Given the description of an element on the screen output the (x, y) to click on. 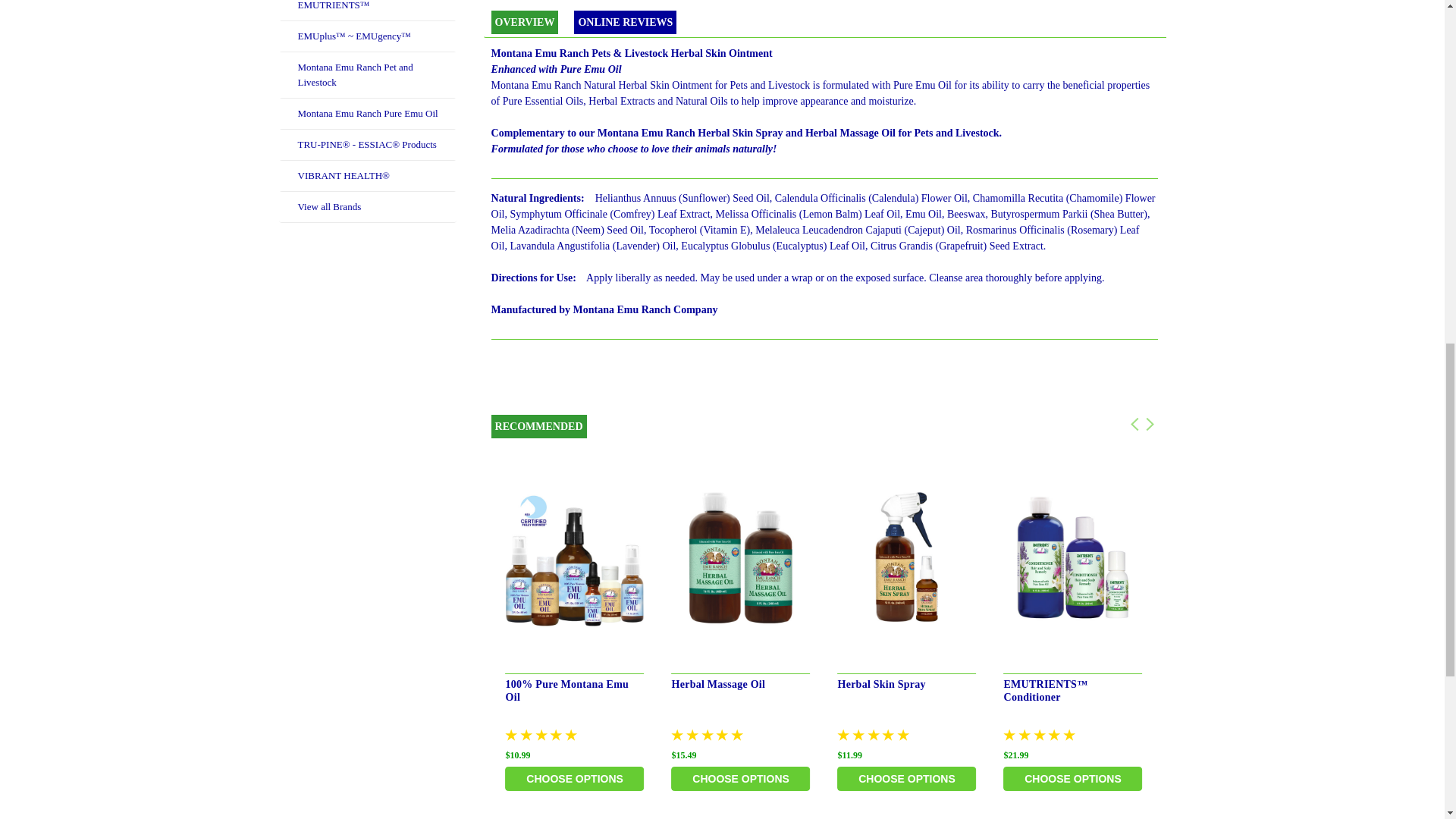
Herbal Skin Spray (907, 558)
Herbal Massage Oil (740, 558)
